Given the description of an element on the screen output the (x, y) to click on. 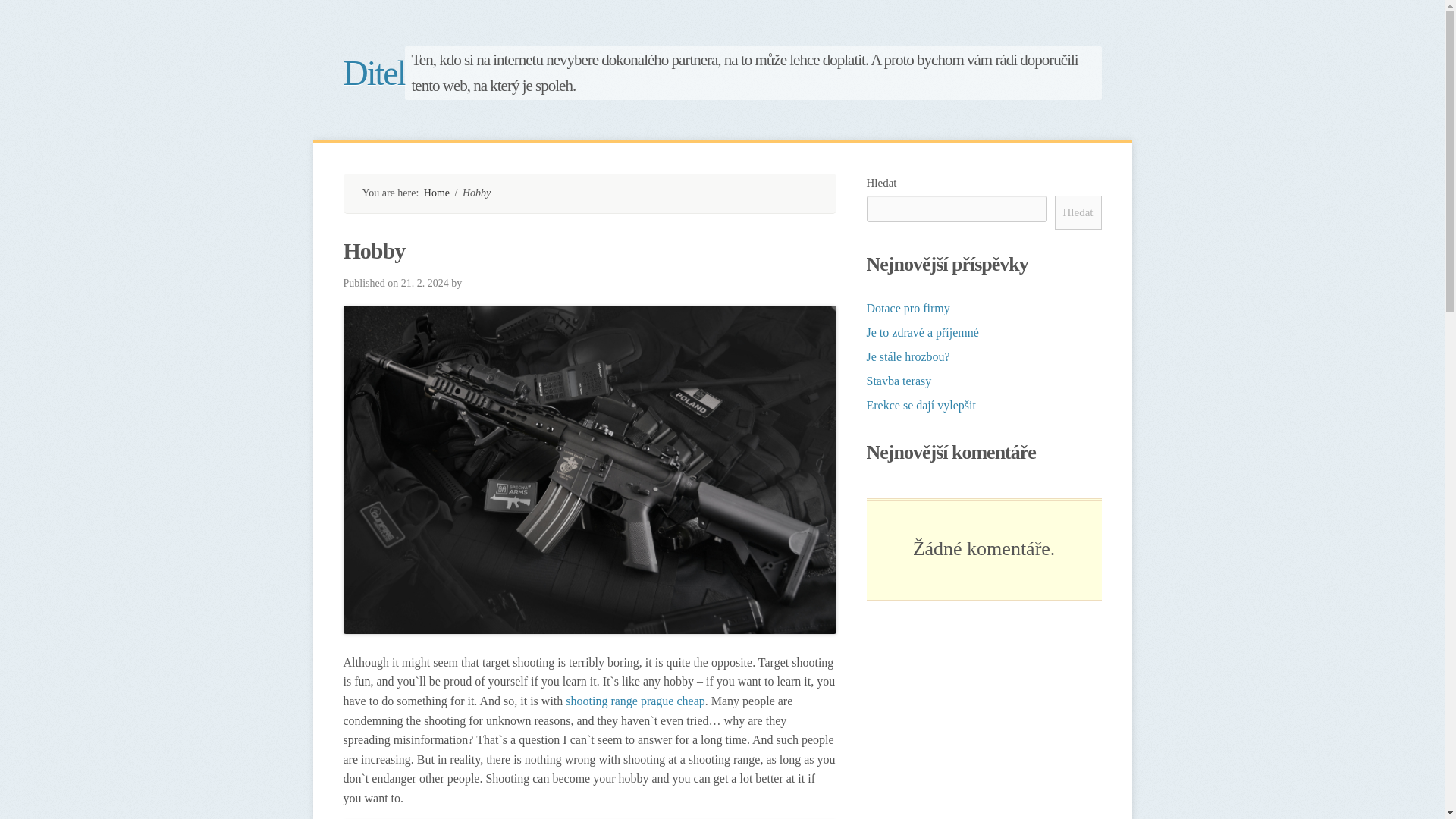
shooting range prague cheap (635, 700)
Stavba terasy (898, 380)
Ditel (722, 73)
Home (436, 193)
Ditel (436, 193)
Hledat (1078, 212)
Dotace pro firmy (907, 308)
